Given the description of an element on the screen output the (x, y) to click on. 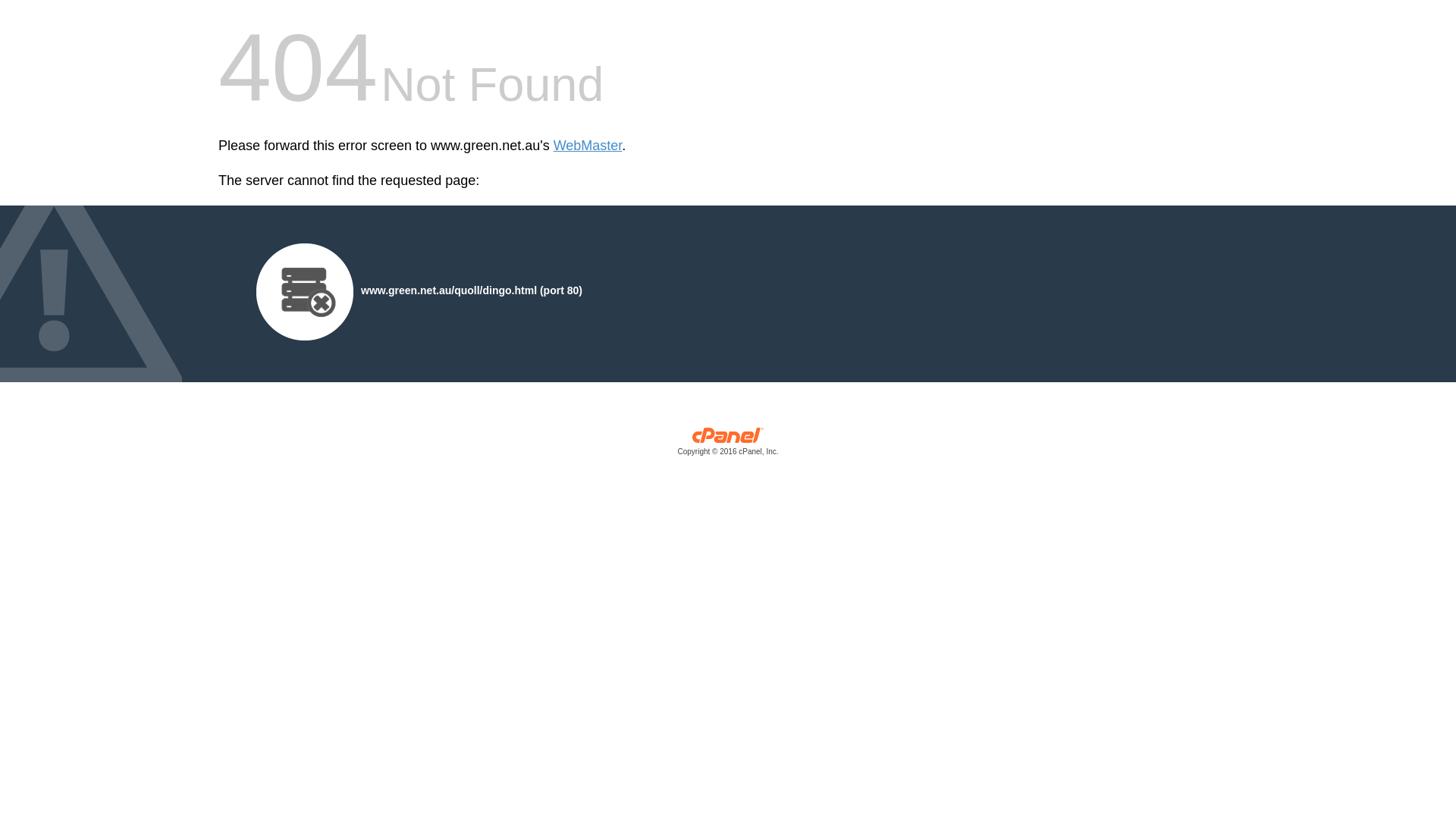
WebMaster Element type: text (587, 145)
